Given the description of an element on the screen output the (x, y) to click on. 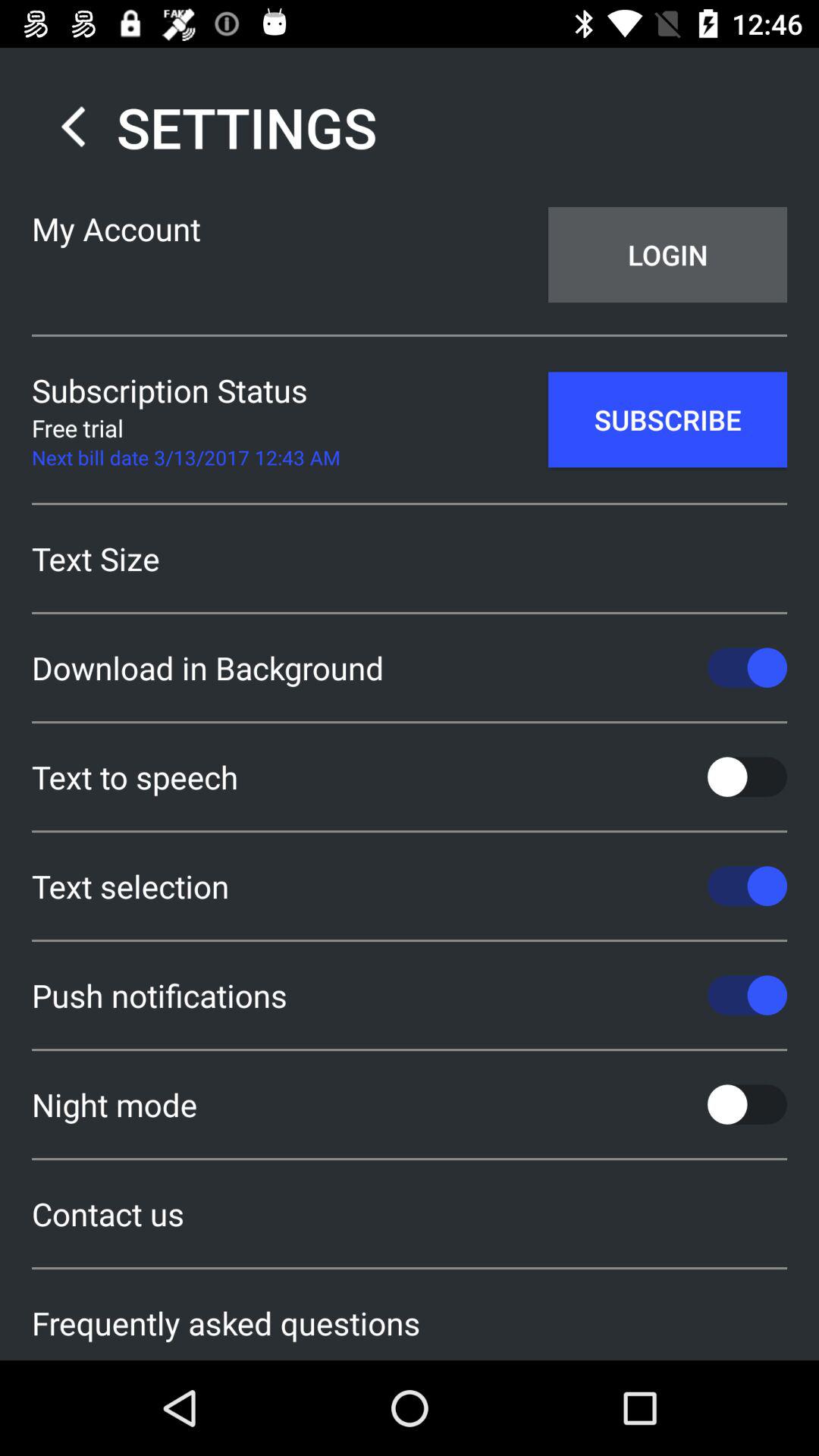
turn on the night mode (409, 1104)
